Given the description of an element on the screen output the (x, y) to click on. 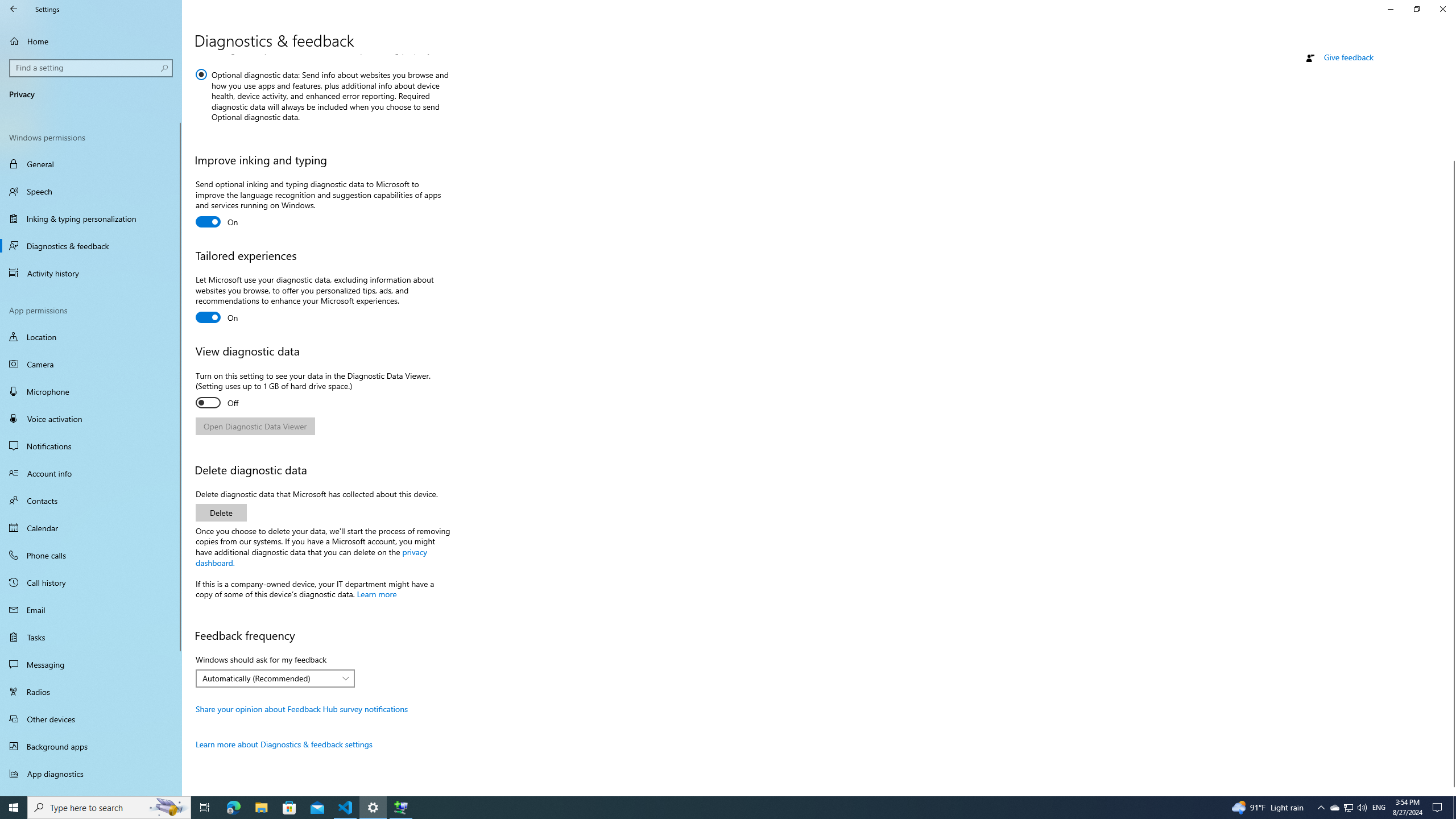
Tasks (91, 636)
Settings - 1 running window (373, 807)
Vertical Small Increase (1451, 791)
Get help (1338, 39)
Email (91, 609)
Inking & typing personalization (91, 217)
Voice activation (91, 418)
Learn more (376, 593)
Diagnostics & feedback (91, 245)
